Given the description of an element on the screen output the (x, y) to click on. 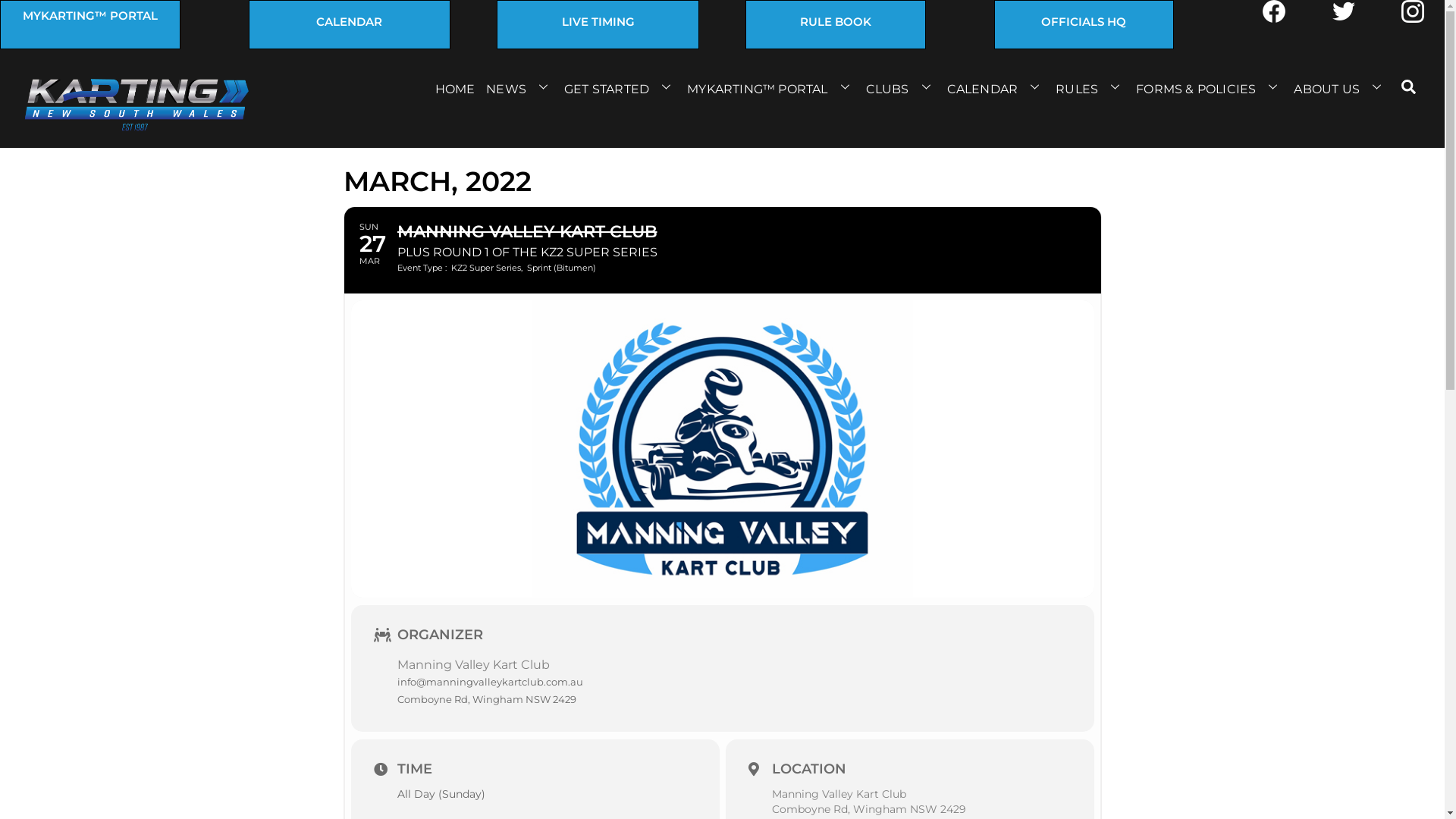
OFFICIALS HQ Element type: text (1083, 21)
insta_2022 Element type: hover (1412, 11)
KARTING_NSW_V3-01 Element type: hover (134, 106)
facebook_2022 Element type: hover (1273, 11)
Manning Valley Kart Club Element type: text (838, 793)
NEWS Element type: text (521, 85)
HOME Element type: text (456, 85)
Manning Valley Kart Club Element type: text (473, 664)
LOCATION Element type: text (808, 768)
Comboyne Rd, Wingham NSW 2429 Element type: text (868, 808)
GET STARTED Element type: text (621, 85)
RULES Element type: text (1091, 85)
twitter_2022 Element type: hover (1343, 11)
FORMS & POLICIES Element type: text (1210, 85)
Karting New South Wales Element type: hover (134, 126)
CALENDAR Element type: text (349, 21)
LIVE TIMING Element type: text (597, 21)
RULE BOOK Element type: text (835, 21)
CLUBS Element type: text (902, 85)
ABOUT US Element type: text (1341, 85)
CALENDAR Element type: text (997, 85)
